Given the description of an element on the screen output the (x, y) to click on. 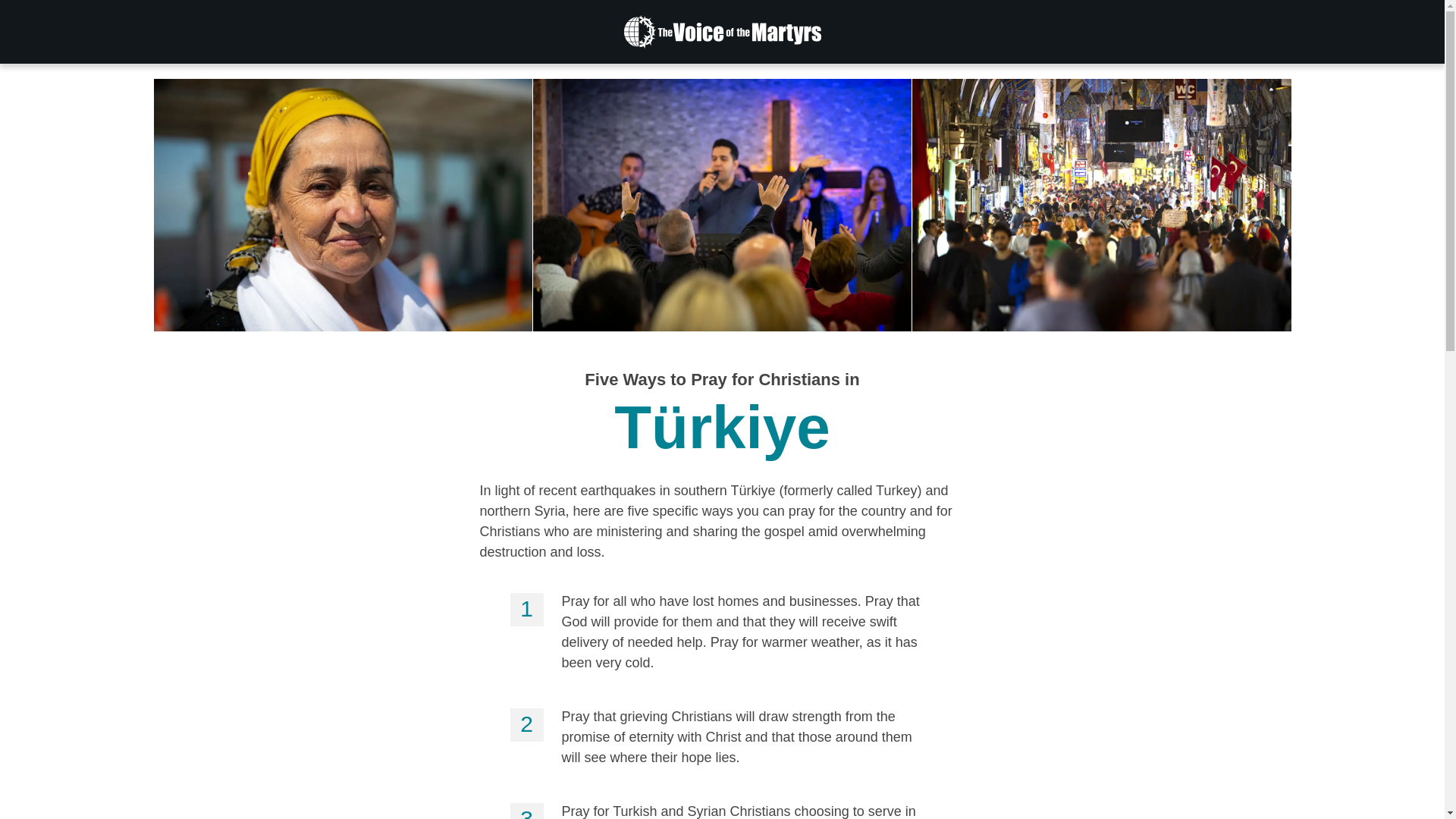
The Voice of the Martyrs (722, 31)
